Given the description of an element on the screen output the (x, y) to click on. 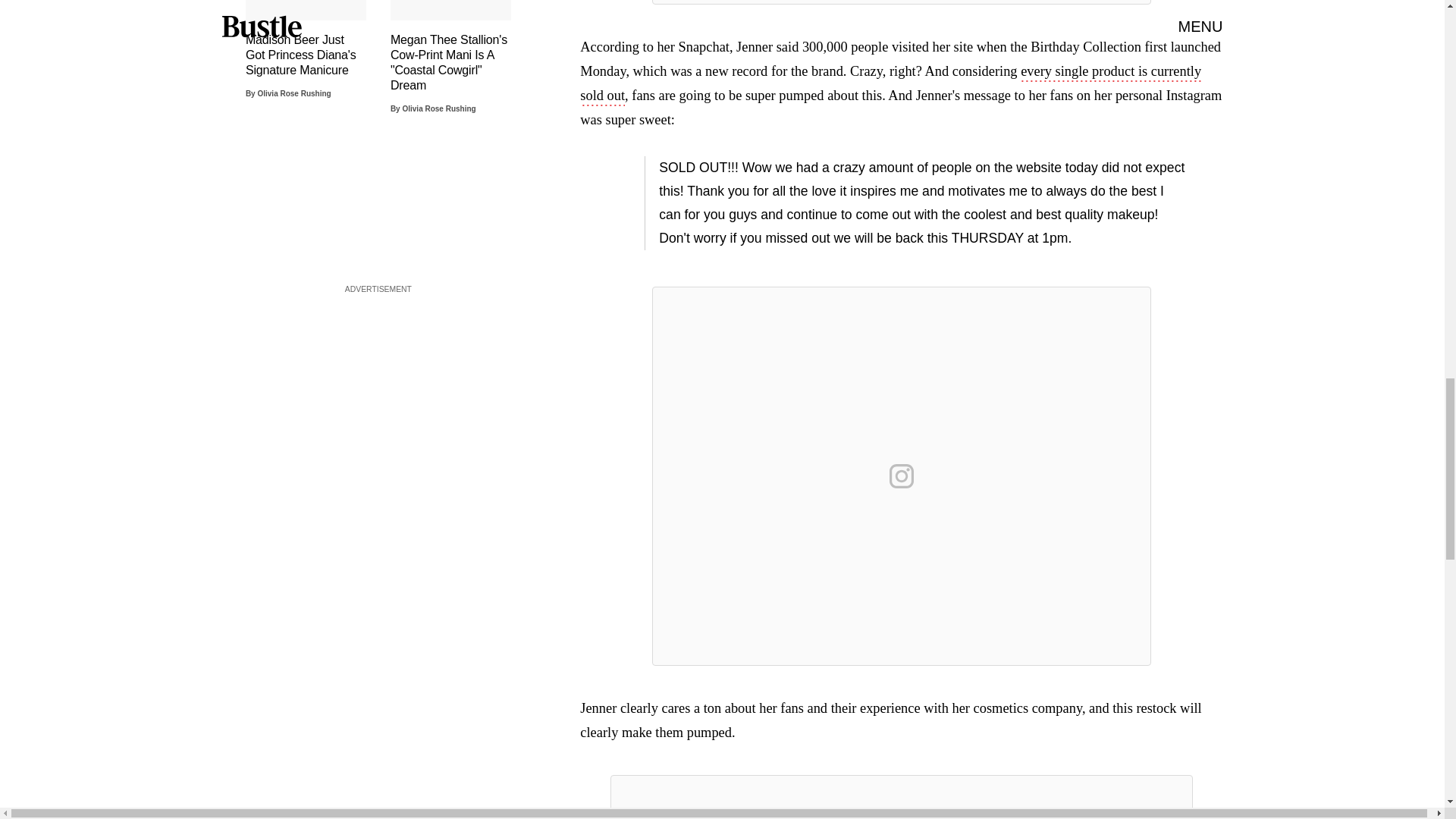
View on Instagram (901, 475)
every single product is currently sold out (890, 84)
